Given the description of an element on the screen output the (x, y) to click on. 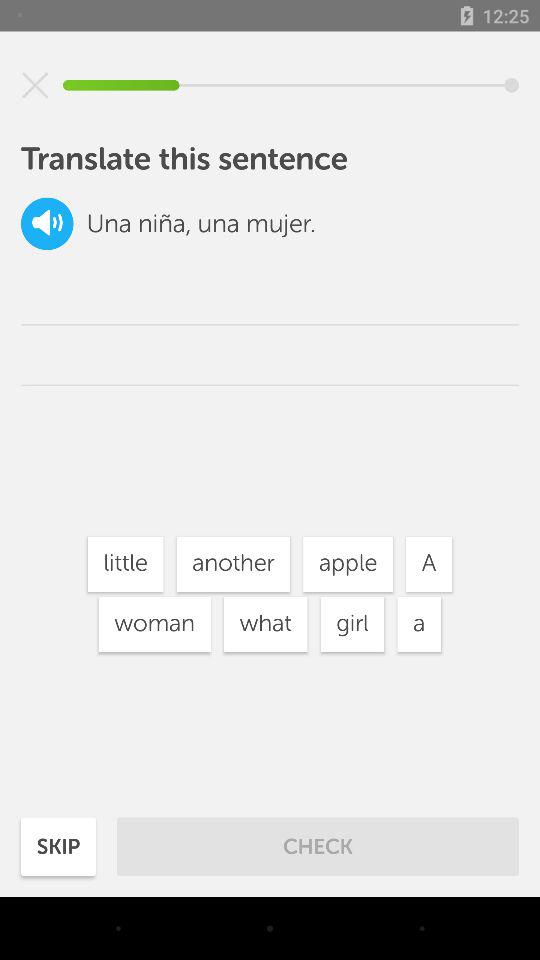
turn off icon below the mujer. (348, 563)
